Given the description of an element on the screen output the (x, y) to click on. 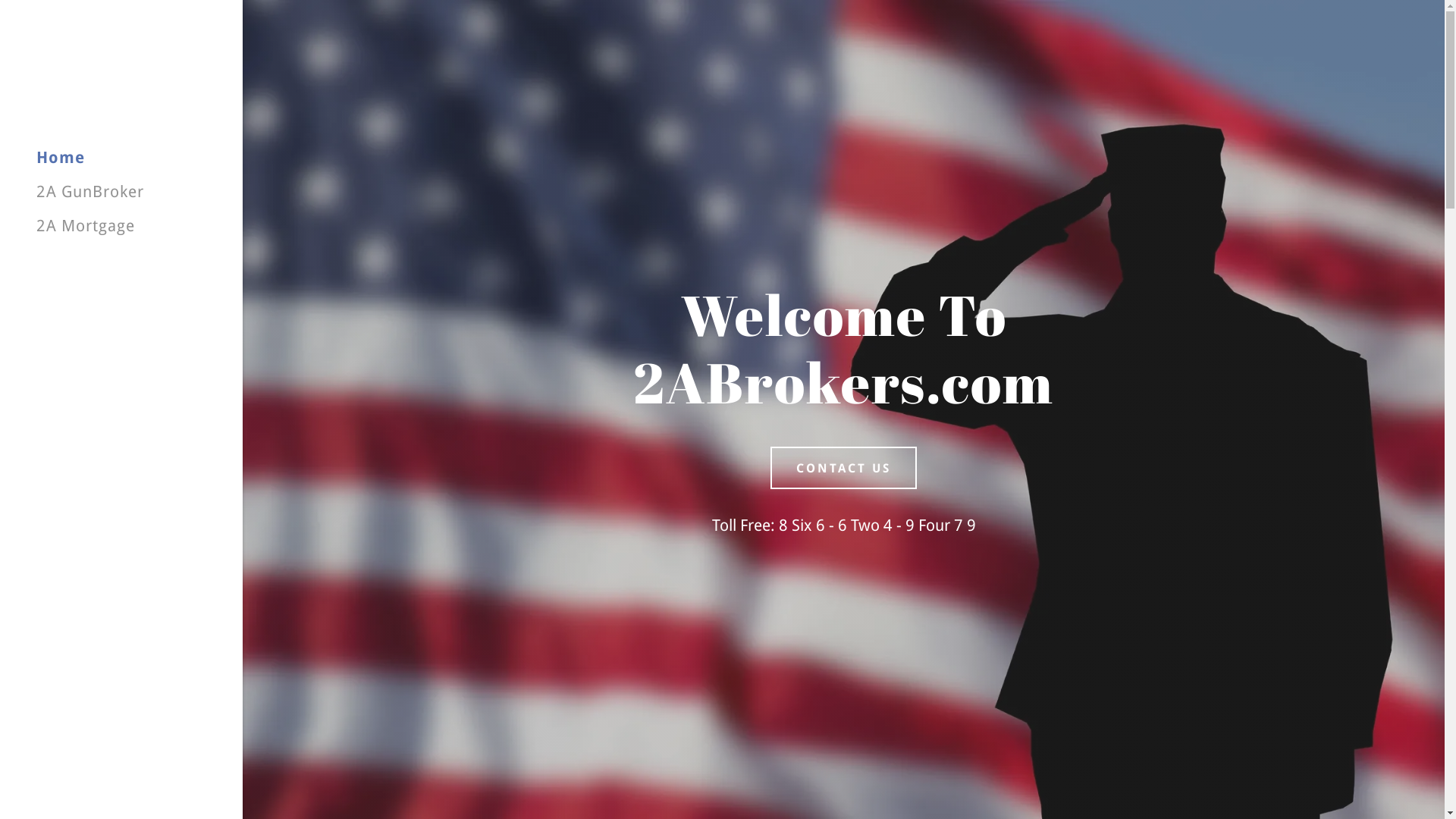
2A Mortgage Element type: text (85, 225)
Home Element type: text (60, 156)
CONTACT US Element type: text (843, 467)
2A GunBroker Element type: text (90, 191)
